Given the description of an element on the screen output the (x, y) to click on. 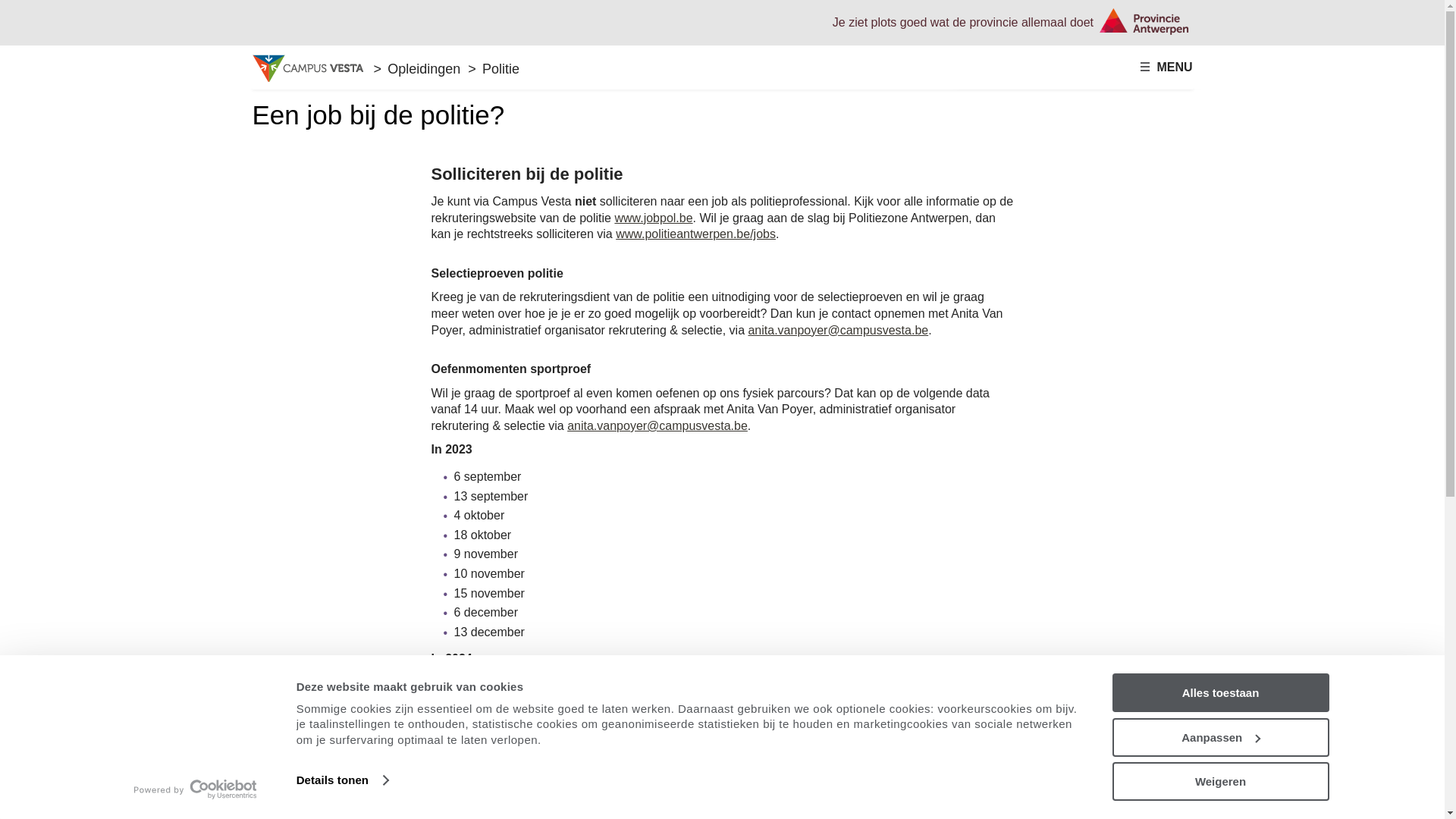
Alles toestaan Element type: text (1219, 692)
Politie Element type: text (500, 68)
NL Element type: text (968, 18)
Opleidingen Element type: text (423, 68)
anita.vanpoyer@campusvesta.be Element type: text (657, 425)
MENU Element type: text (1166, 67)
Campus Vesta Element type: hover (308, 67)
anita.vanpoyer@campusvesta.be Element type: text (837, 329)
www.jobpol.be Element type: text (653, 217)
www.politieantwerpen.be/jobs Element type: text (695, 233)
Provincie Antwerpen Element type: text (1144, 21)
Weigeren Element type: text (1219, 781)
Aanpassen Element type: text (1219, 736)
EN Element type: text (989, 18)
Details tonen Element type: text (342, 779)
